Given the description of an element on the screen output the (x, y) to click on. 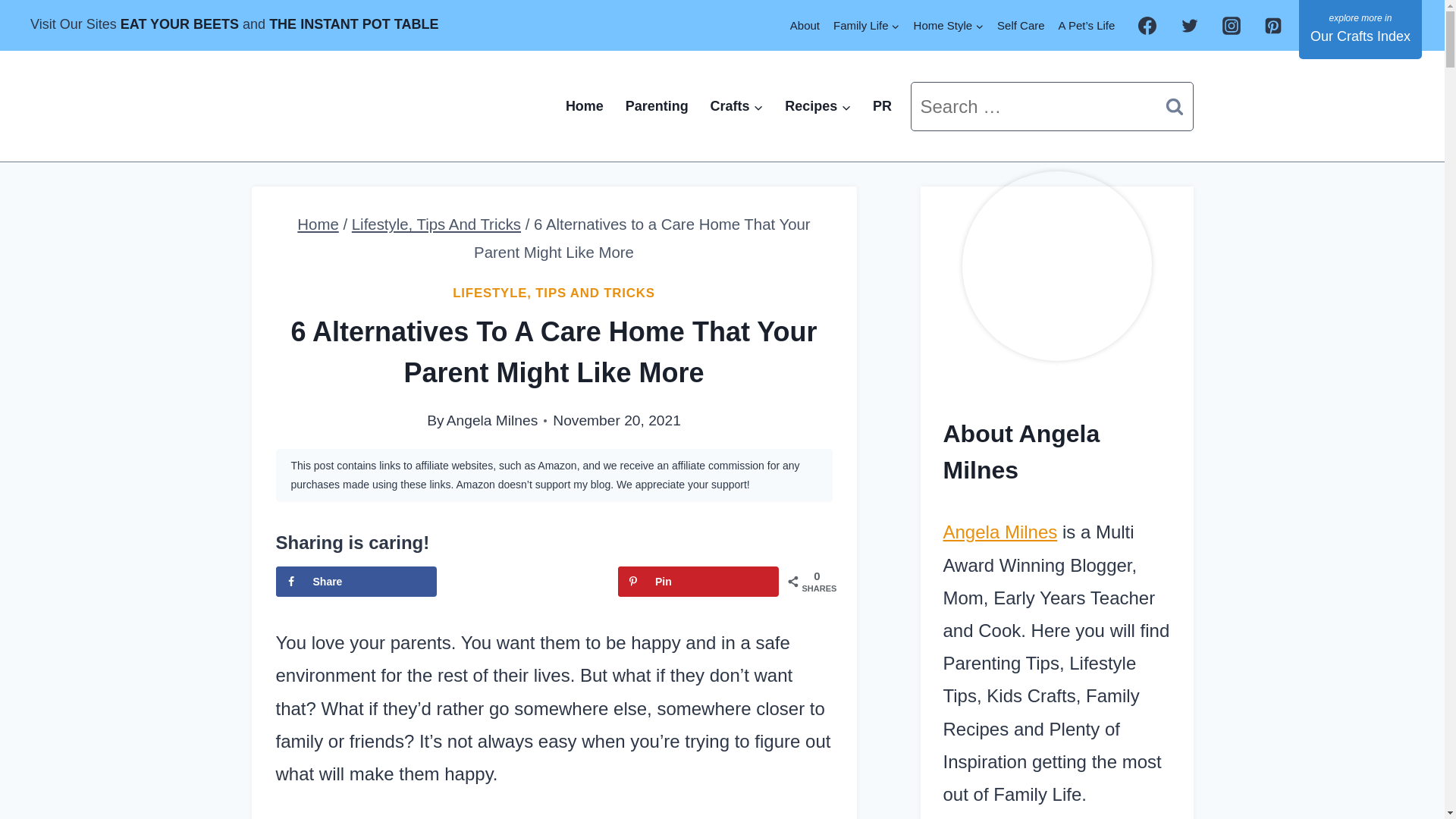
Recipes (817, 105)
THE INSTANT POT TABLE (353, 23)
Save to Pinterest (697, 581)
Share on X (526, 581)
Pin (697, 581)
Our Crafts Index (1360, 29)
Lifestyle, Tips And Tricks (436, 224)
Family Life (867, 25)
EAT YOUR BEETS (179, 23)
Share on Facebook (356, 581)
Share (356, 581)
About (805, 25)
Home (317, 224)
Tweet (526, 581)
Parenting (656, 105)
